Given the description of an element on the screen output the (x, y) to click on. 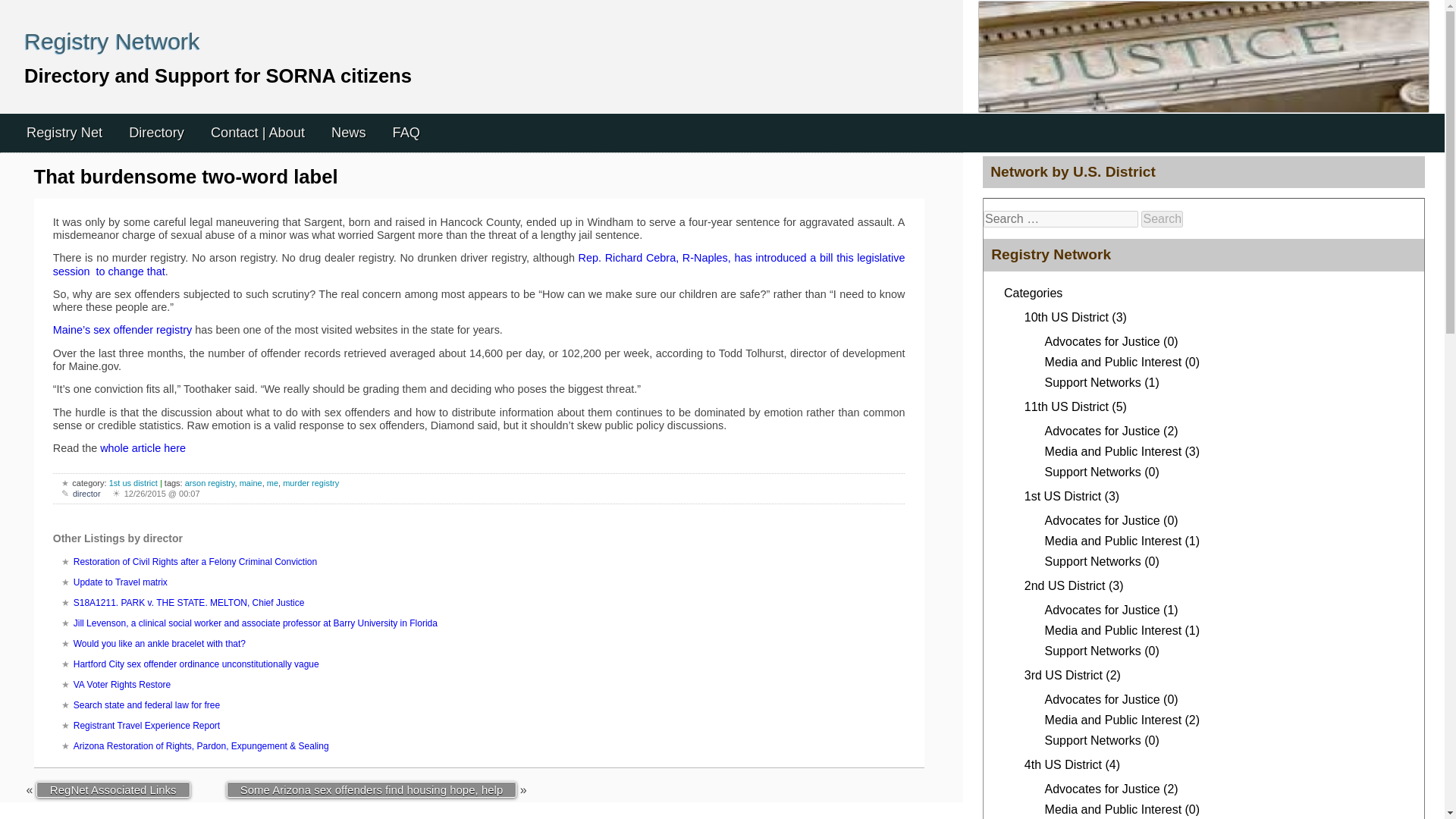
Registrant Travel Experience Report (146, 725)
S18A1211. PARK v. THE STATE. MELTON, Chief Justice (189, 602)
me (272, 482)
Advocates for Justice (1102, 341)
Search state and federal law for free (146, 705)
Media and Public Interest (1113, 361)
Advocates for Justice (1102, 431)
murder registry (310, 482)
News (348, 132)
Update to Travel matrix (120, 582)
1st us district (133, 482)
Some Arizona sex offenders find housing hope, help (371, 788)
Search (1161, 218)
Would you like an ankle bracelet with that? (160, 643)
